Given the description of an element on the screen output the (x, y) to click on. 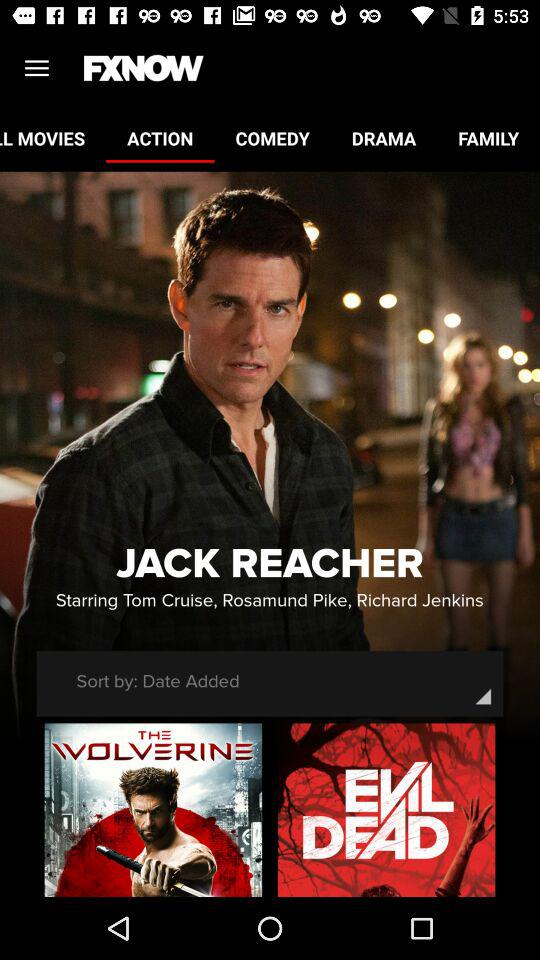
flip until the comedy item (272, 138)
